Given the description of an element on the screen output the (x, y) to click on. 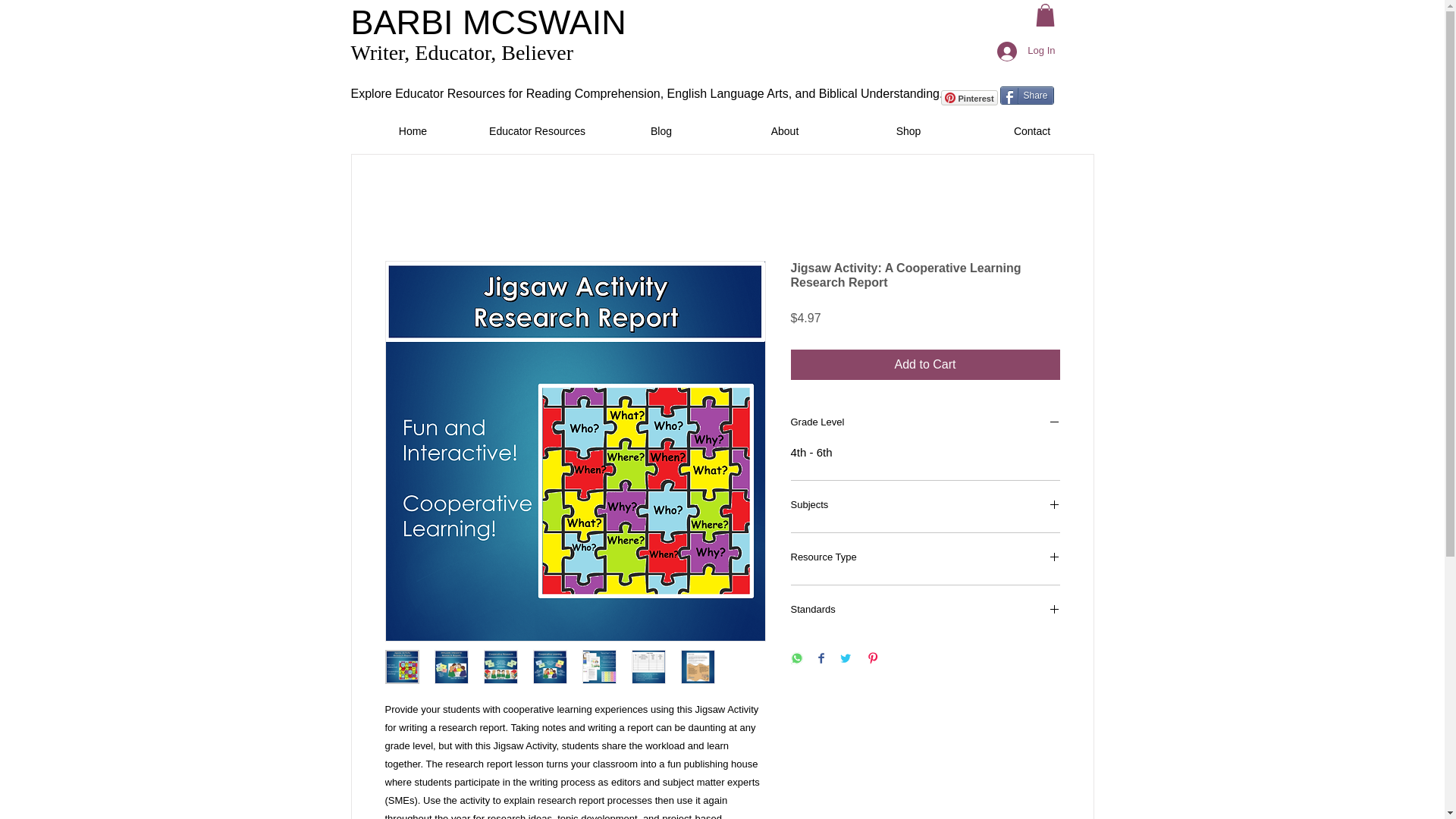
Resource Type (924, 558)
Blog (659, 131)
Standards (924, 611)
Subjects (924, 506)
Pinterest (968, 97)
Home (412, 131)
Share (1025, 95)
Educator Resources (536, 131)
Add to Cart (924, 364)
Log In (1026, 51)
Grade Level (924, 423)
About (785, 131)
Contact (1032, 131)
Shop (907, 131)
Share (1025, 95)
